Given the description of an element on the screen output the (x, y) to click on. 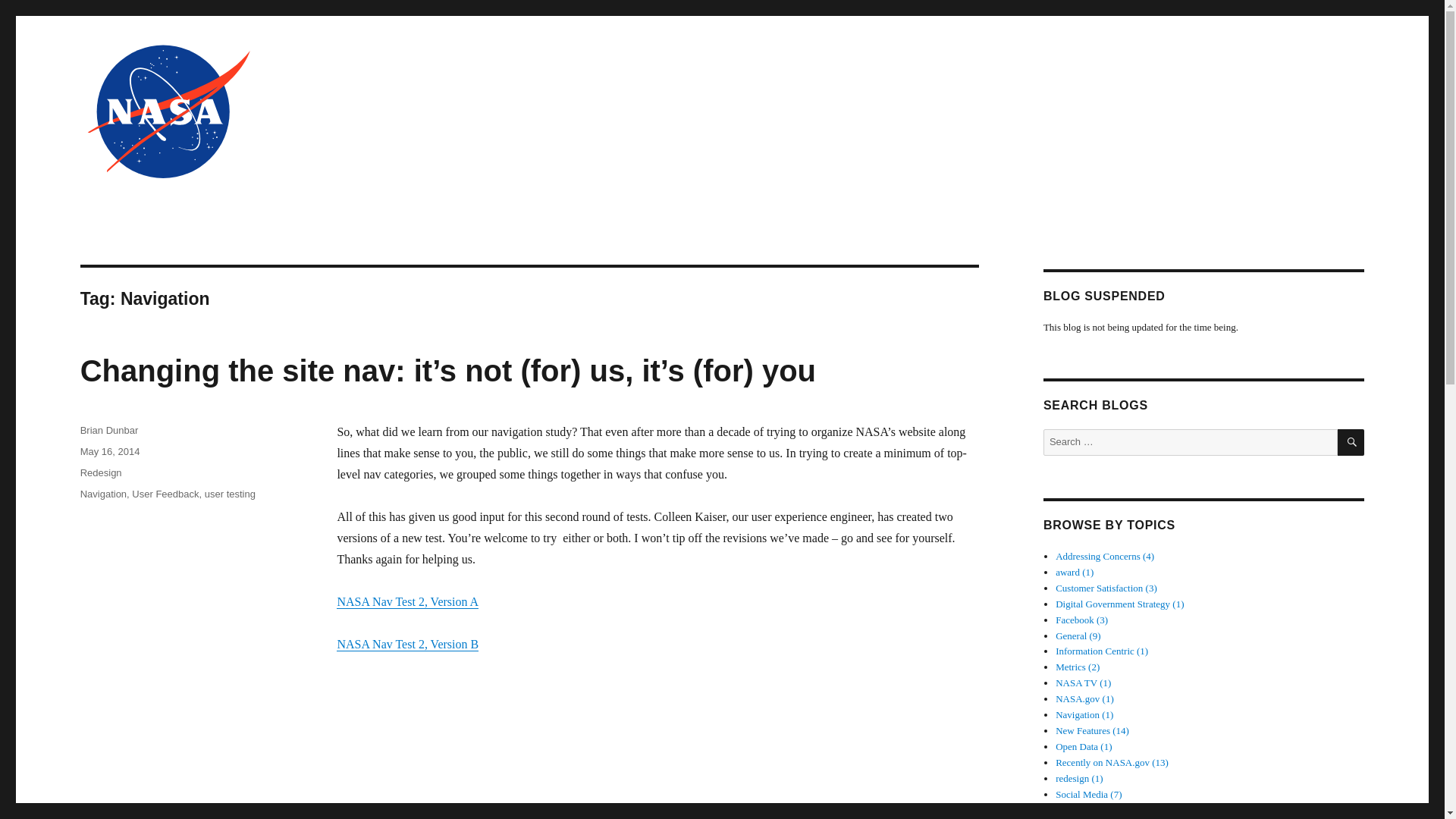
NASA.gov: Behind the Page (221, 202)
Navigation (103, 493)
NASA Nav Test 2, Version B (407, 644)
User Feedback (165, 493)
NASA Blogs Home (1313, 126)
May 16, 2014 (109, 451)
Redesign (101, 472)
NASA Nav Test 2, Version A (407, 601)
SEARCH (1351, 442)
Brian Dunbar (109, 430)
